Given the description of an element on the screen output the (x, y) to click on. 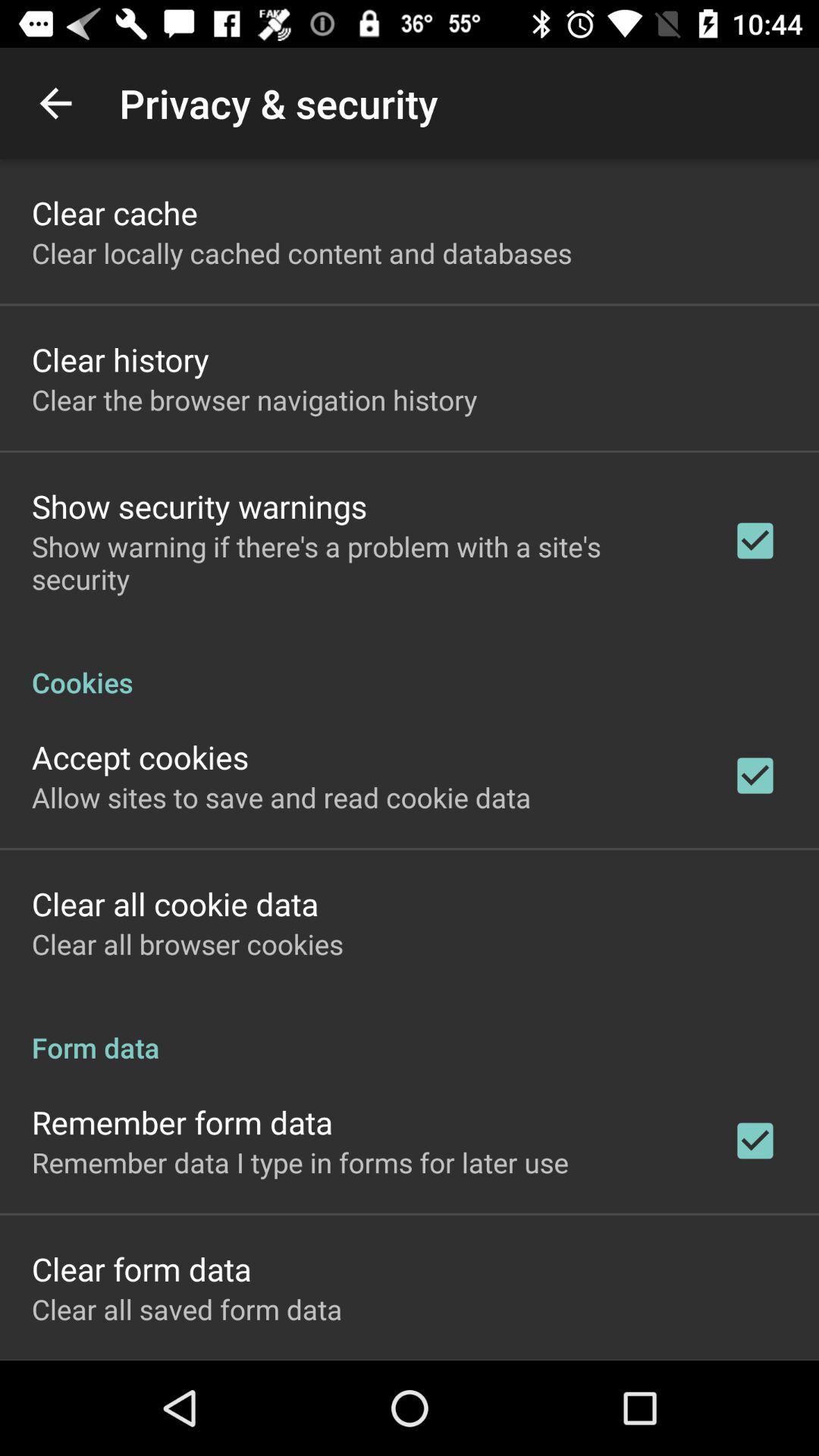
swipe to the show warning if (361, 562)
